Given the description of an element on the screen output the (x, y) to click on. 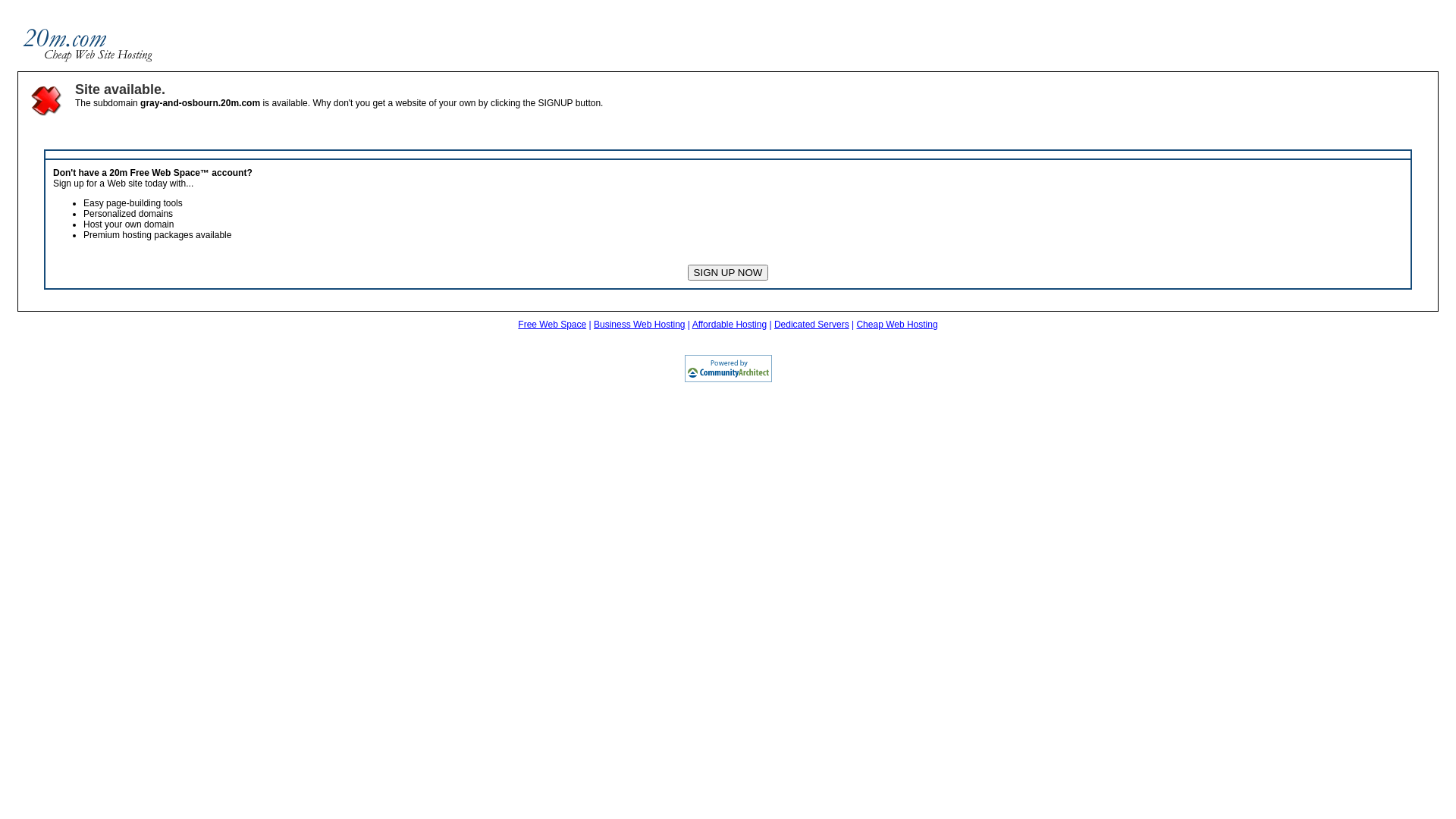
Affordable Hosting Element type: text (729, 324)
Business Web Hosting Element type: text (639, 324)
Dedicated Servers Element type: text (811, 324)
Cheap Web Hosting Element type: text (896, 324)
Free Web Space Element type: text (551, 324)
SIGN UP NOW Element type: text (727, 272)
